Given the description of an element on the screen output the (x, y) to click on. 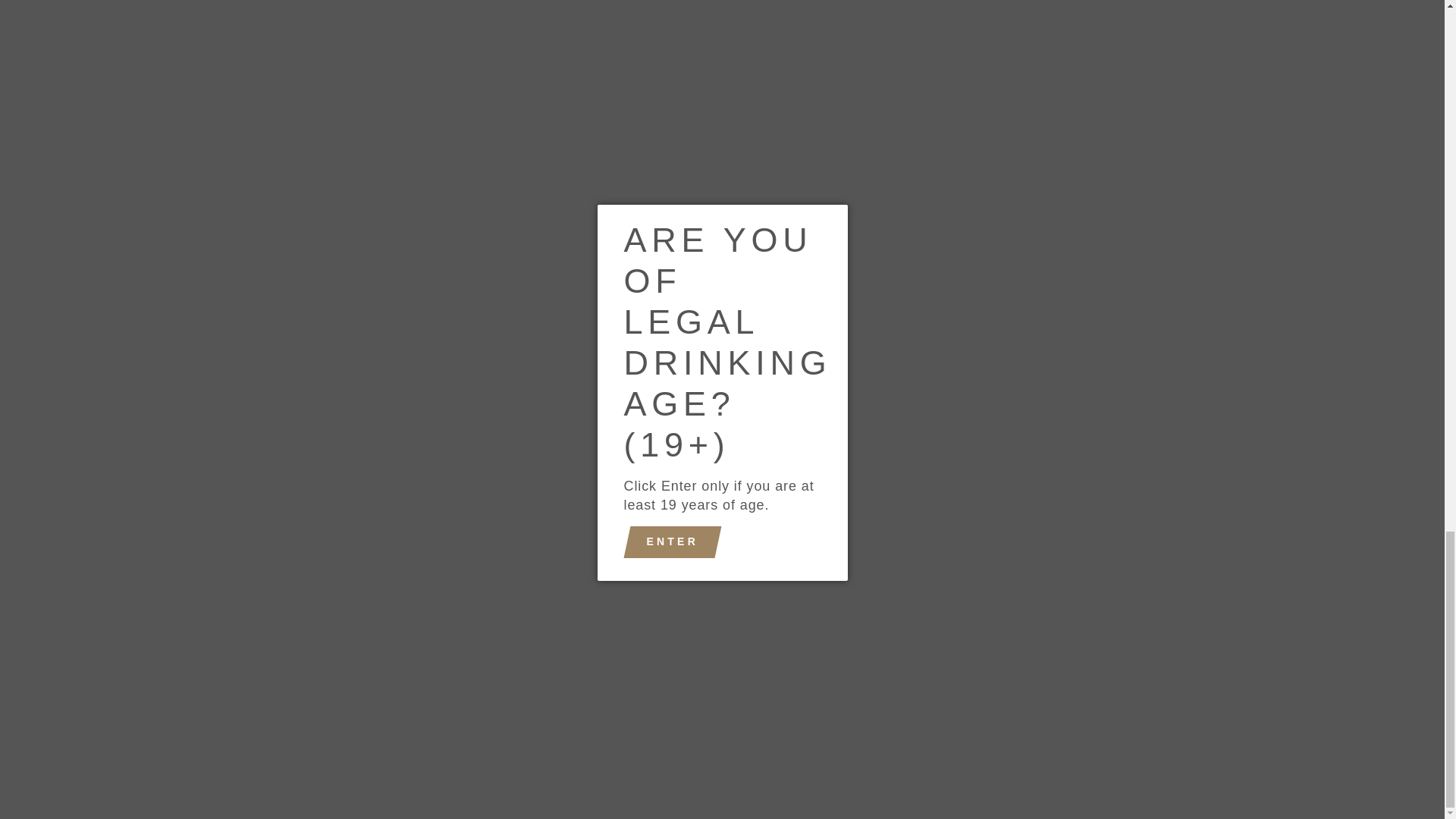
Apple Pay (634, 728)
Discover (704, 728)
Mastercard (774, 728)
Ridge Rock Brewing Company on Twitter (251, 676)
Diners Club (669, 728)
Visa (844, 728)
Ridge Rock Brewing Company on Facebook (222, 676)
American Express (599, 728)
Google Pay (739, 728)
Ridge Rock Brewing Company on Instagram (192, 676)
